Given the description of an element on the screen output the (x, y) to click on. 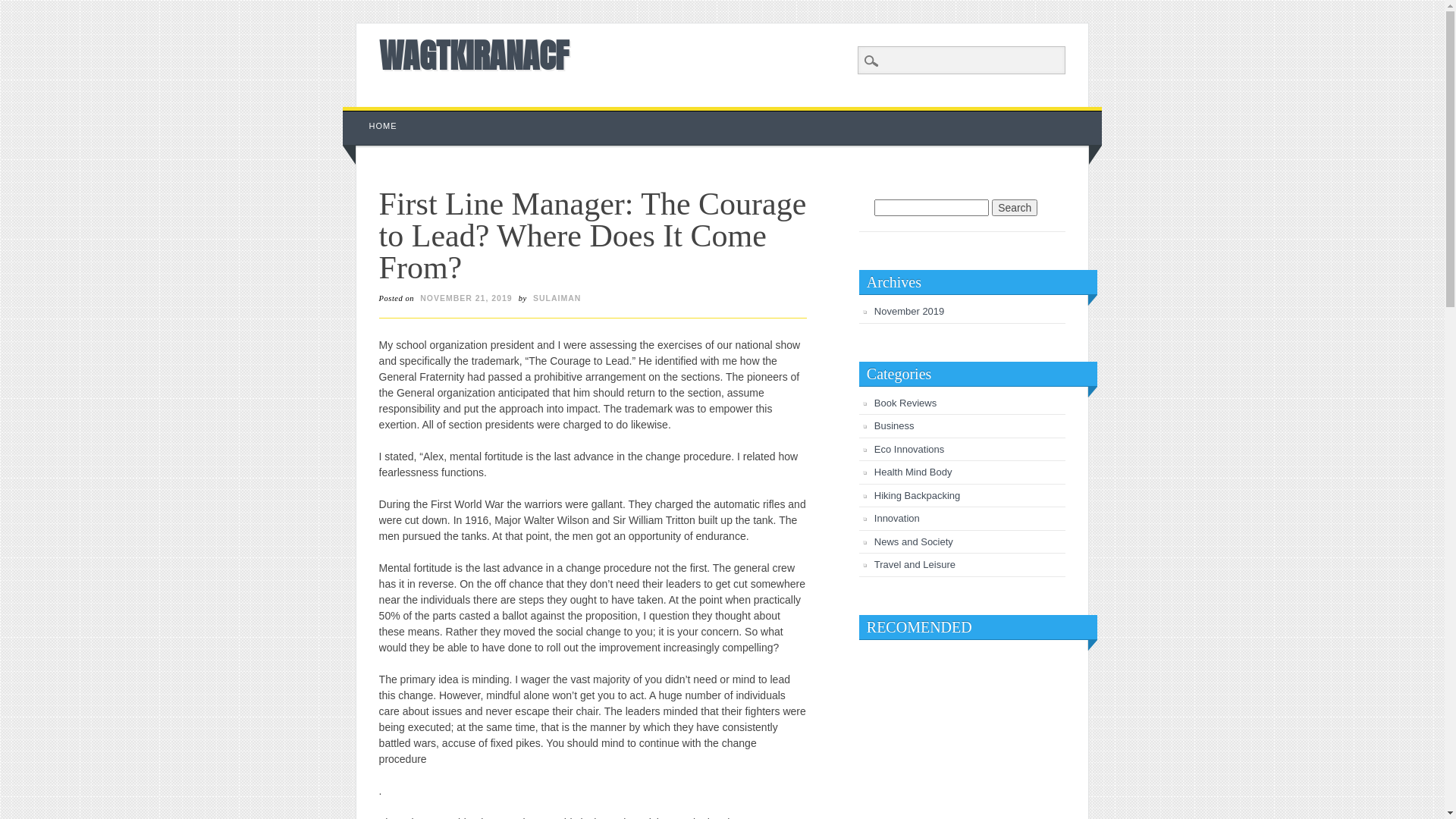
WAGTKIRANACF Element type: text (473, 55)
News and Society Element type: text (913, 541)
Search Element type: text (1014, 207)
Innovation Element type: text (896, 518)
Health Mind Body Element type: text (913, 471)
November 2019 Element type: text (909, 310)
Search Element type: text (22, 8)
Eco Innovations Element type: text (909, 449)
Hiking Backpacking Element type: text (917, 495)
NOVEMBER 21, 2019 Element type: text (465, 297)
Skip to content Element type: text (377, 114)
Business Element type: text (894, 425)
HOME Element type: text (383, 125)
Travel and Leisure Element type: text (914, 564)
Book Reviews Element type: text (905, 402)
SULAIMAN Element type: text (556, 297)
